Given the description of an element on the screen output the (x, y) to click on. 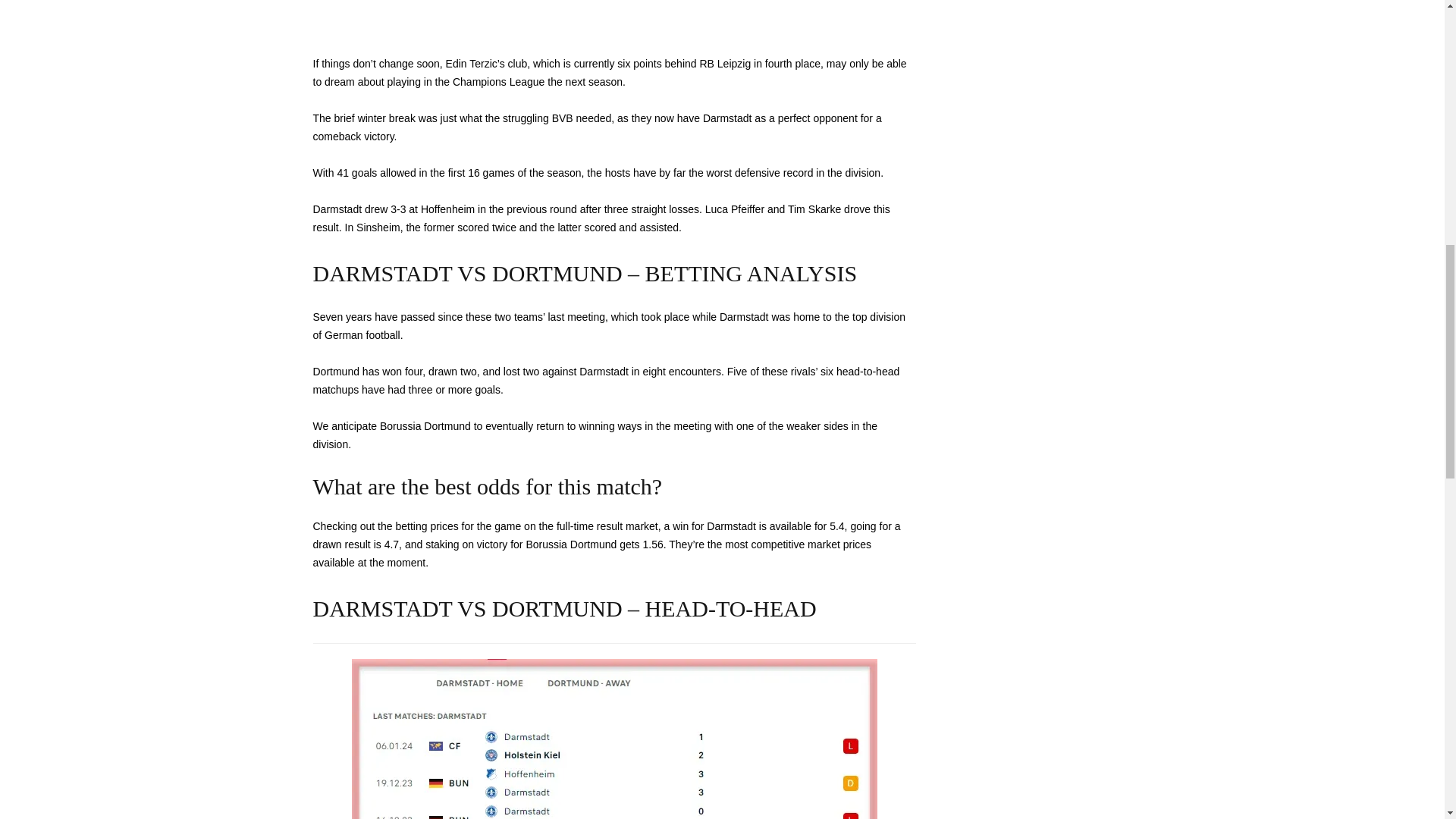
Advertisement (360, 21)
